Given the description of an element on the screen output the (x, y) to click on. 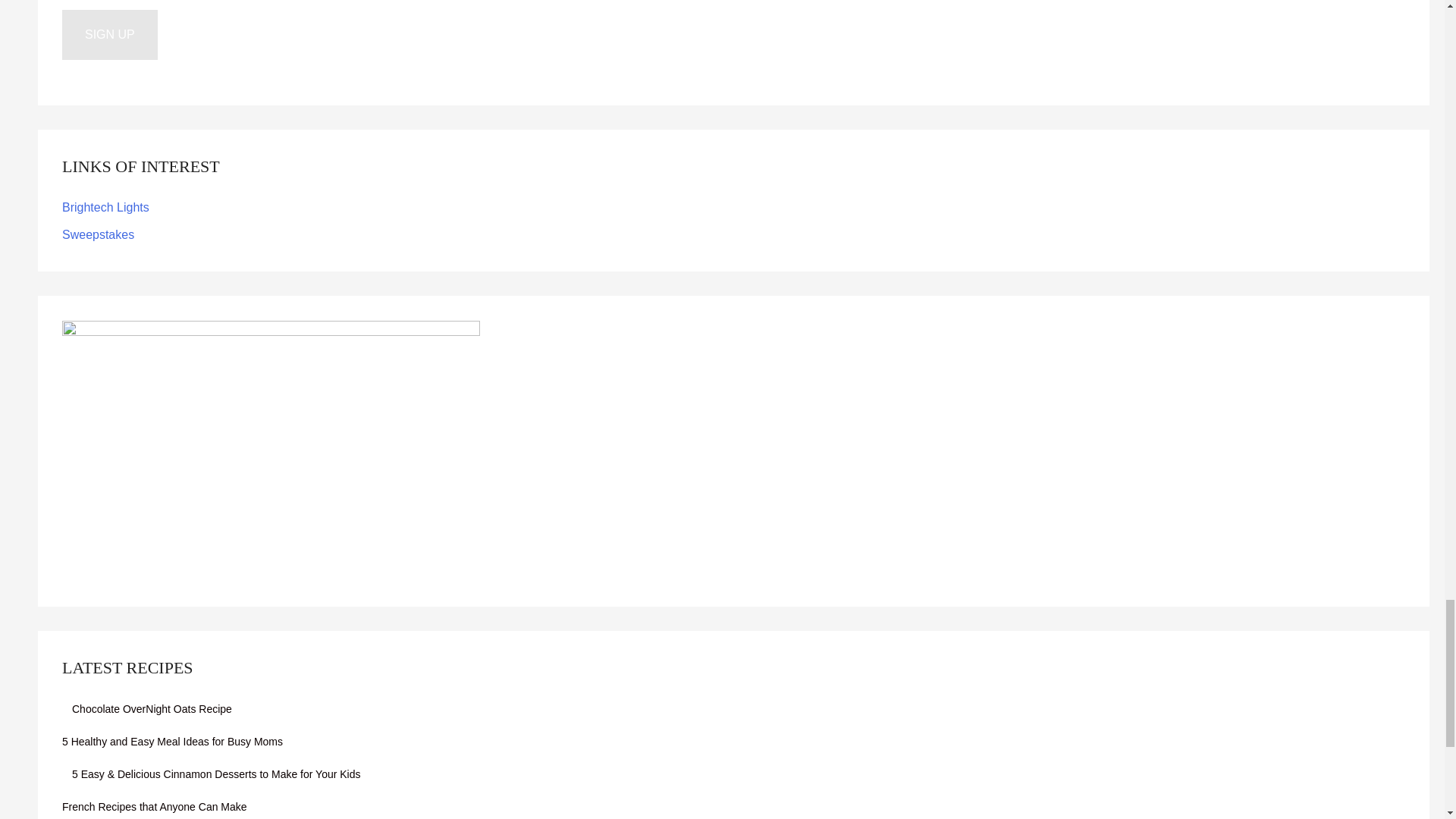
Sweepstakes (97, 234)
Awesome lighting for your home! (105, 206)
Sign up (109, 34)
